Given the description of an element on the screen output the (x, y) to click on. 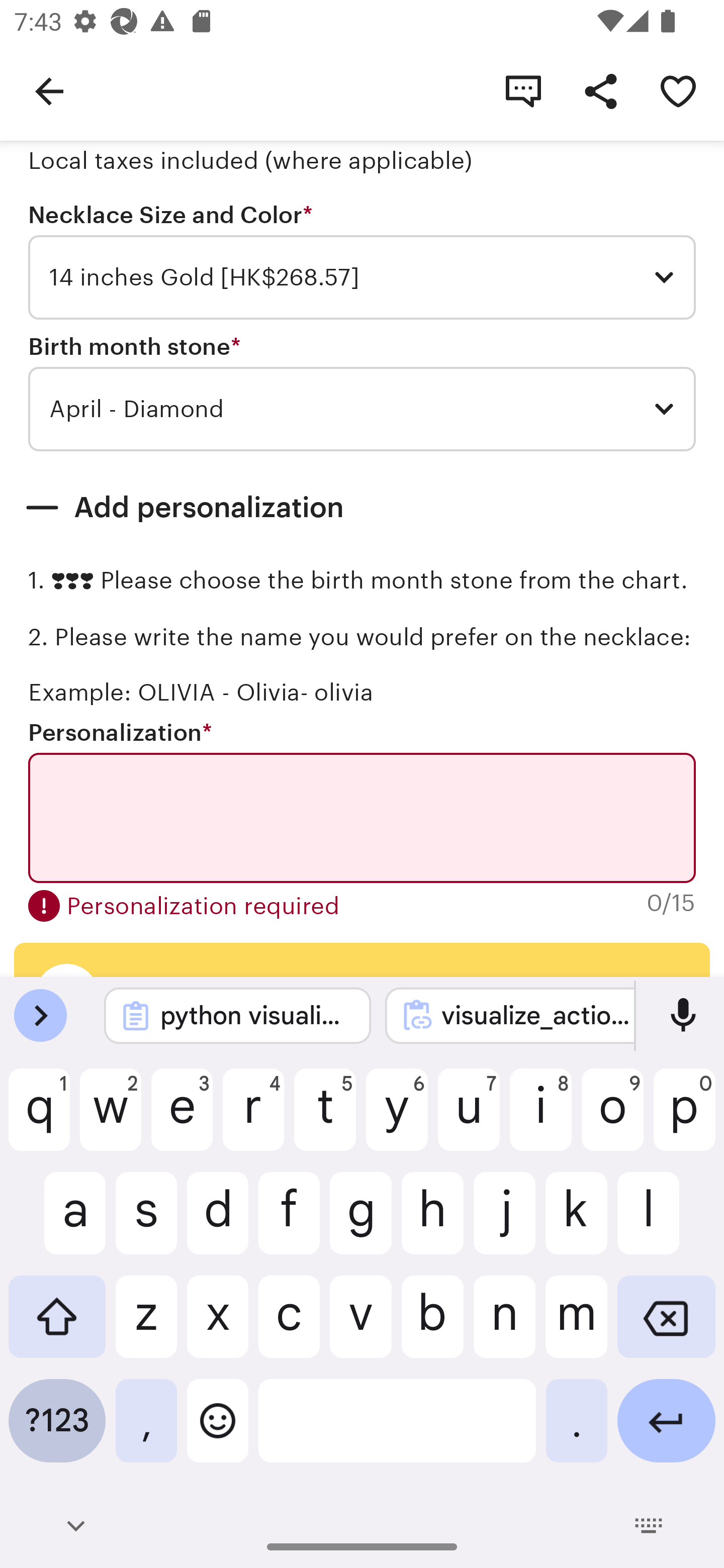
Navigate up (49, 90)
Contact shop (523, 90)
Share (600, 90)
14 inches Gold [HK$268.57] (361, 277)
Birth month stone * Required April - Diamond (361, 392)
April - Diamond (361, 408)
Add personalization Add personalization Required (362, 507)
